Given the description of an element on the screen output the (x, y) to click on. 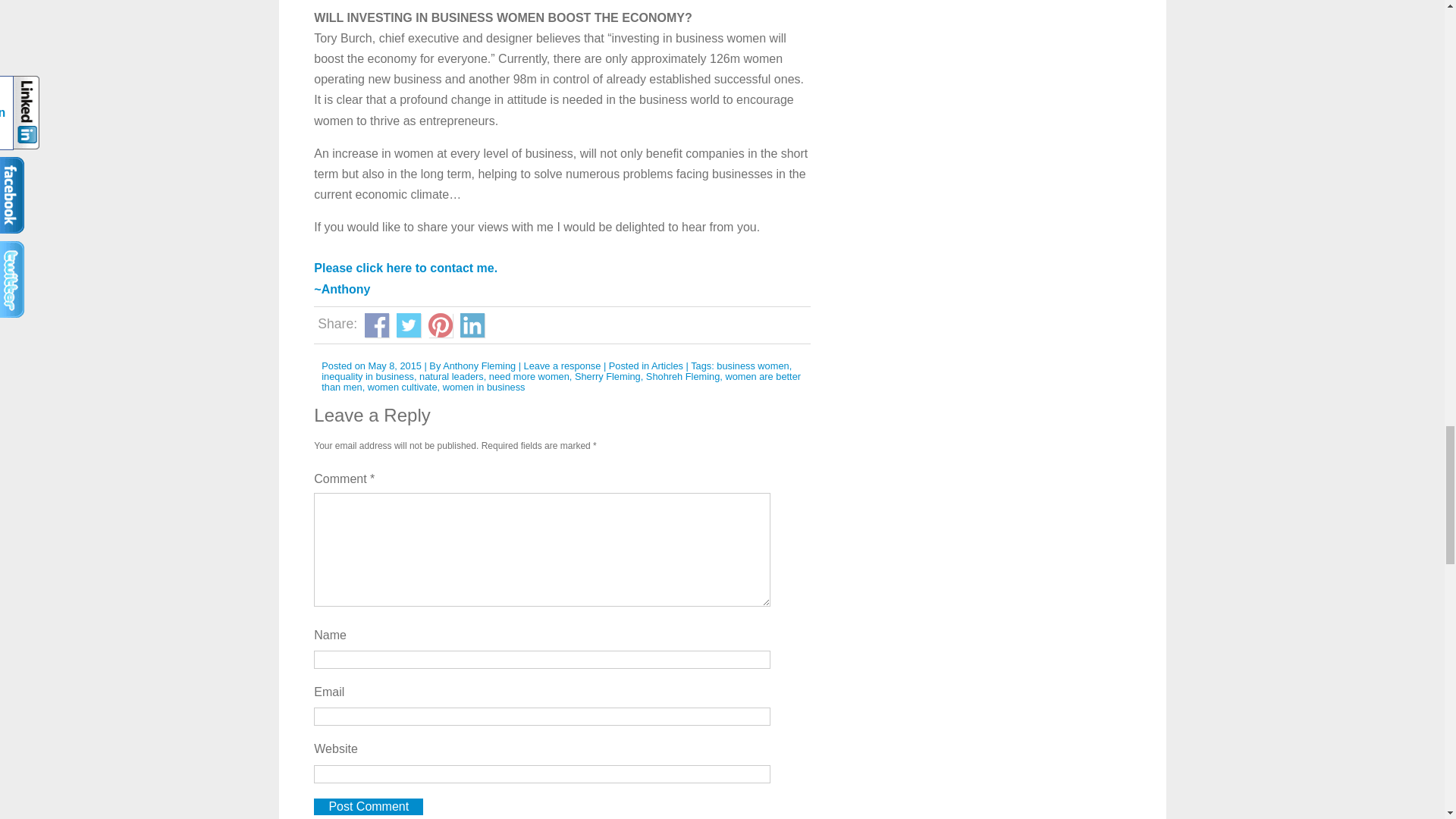
Articles (666, 365)
natural leaders (451, 376)
need more women (529, 376)
Share on Facebook (376, 324)
Facebook (376, 324)
May 8, 2015 (394, 365)
Post Comment (368, 806)
Anthony Fleming (478, 365)
inequality in business (367, 376)
Share on Linkedin (472, 324)
